Given the description of an element on the screen output the (x, y) to click on. 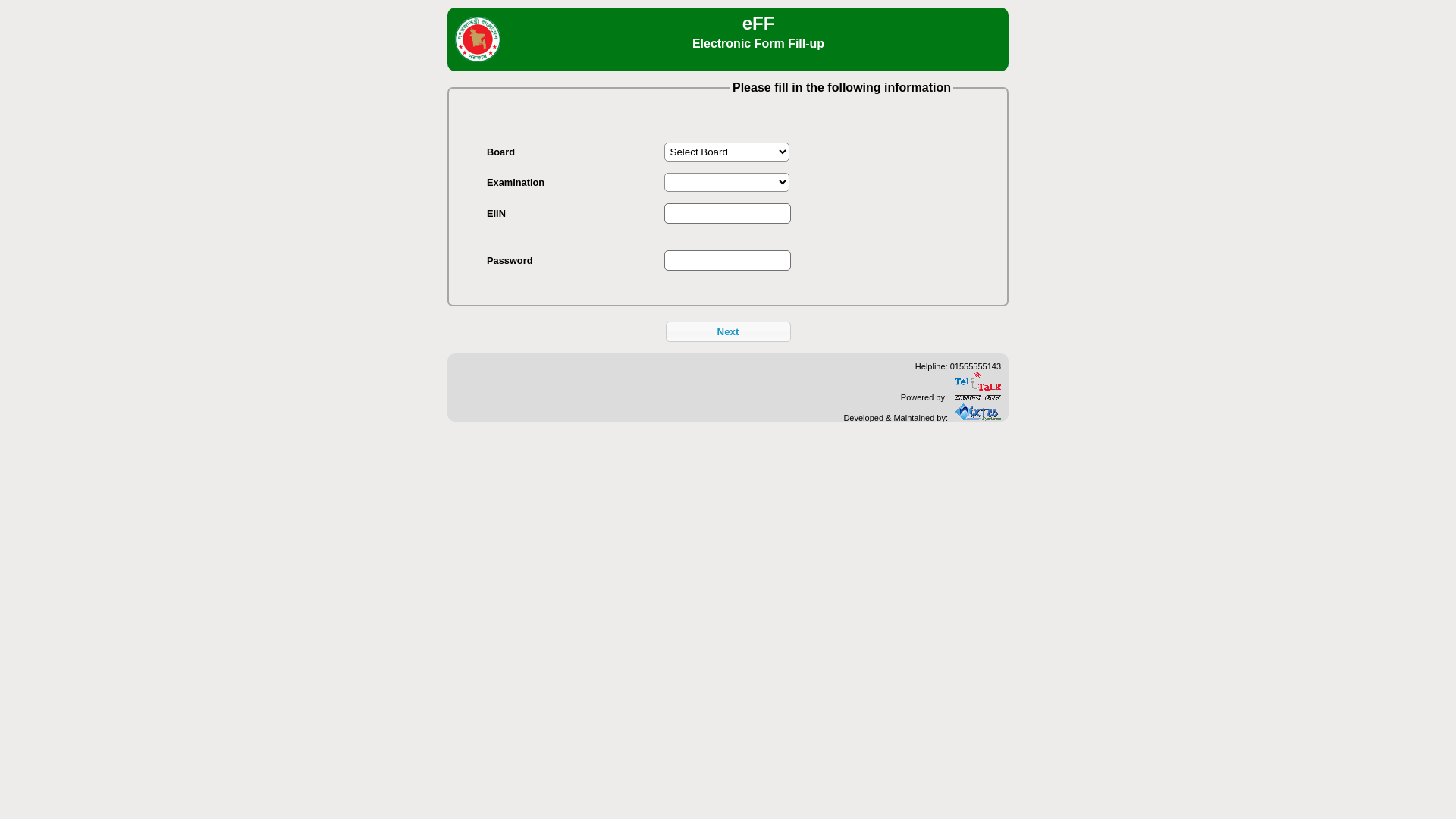
Next Element type: text (727, 331)
